Given the description of an element on the screen output the (x, y) to click on. 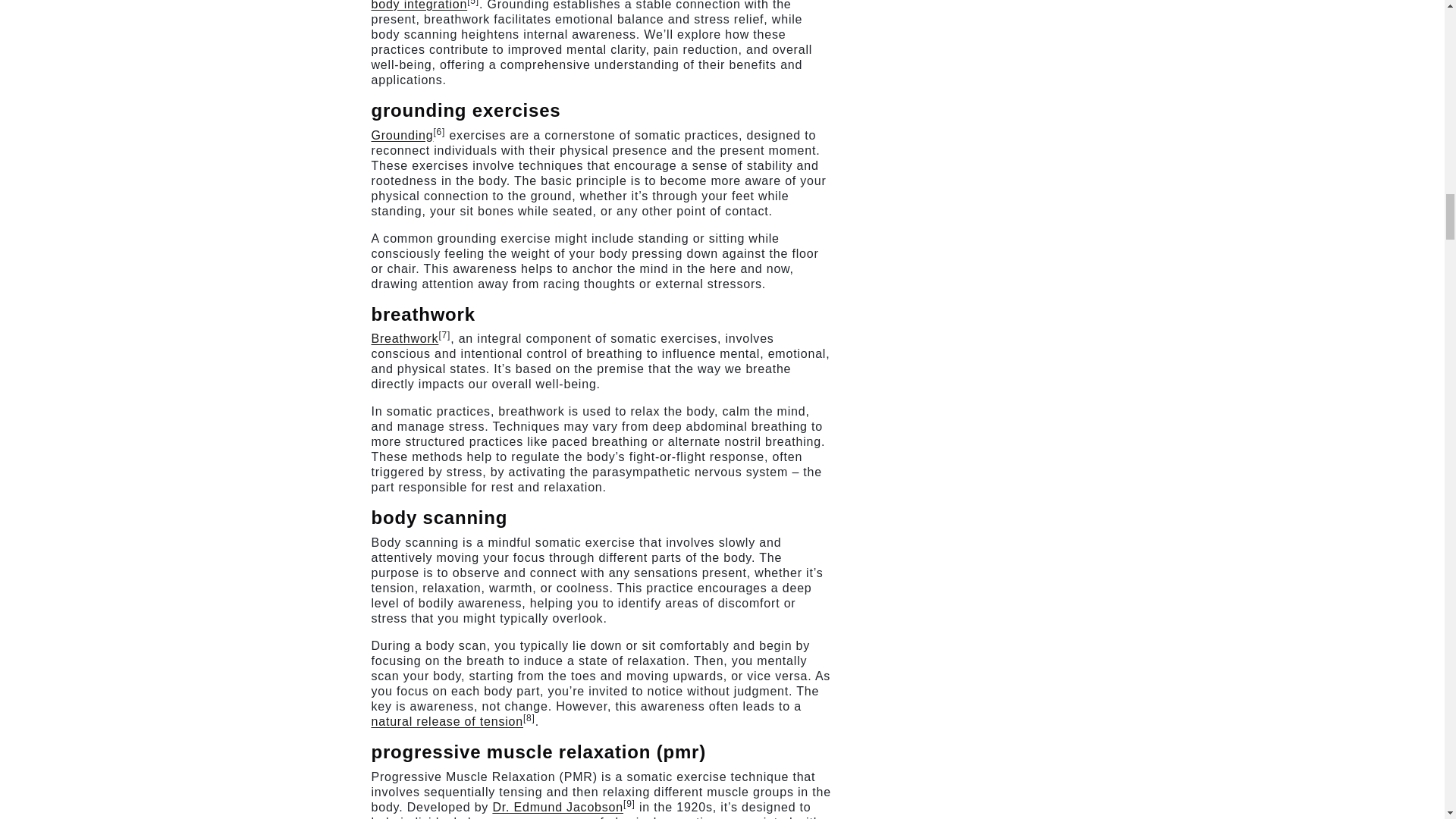
fostering mind-body integration (590, 5)
natural release of tension (446, 721)
Breathwork (405, 338)
Dr. Edmund Jacobson (557, 807)
Grounding (402, 134)
